Given the description of an element on the screen output the (x, y) to click on. 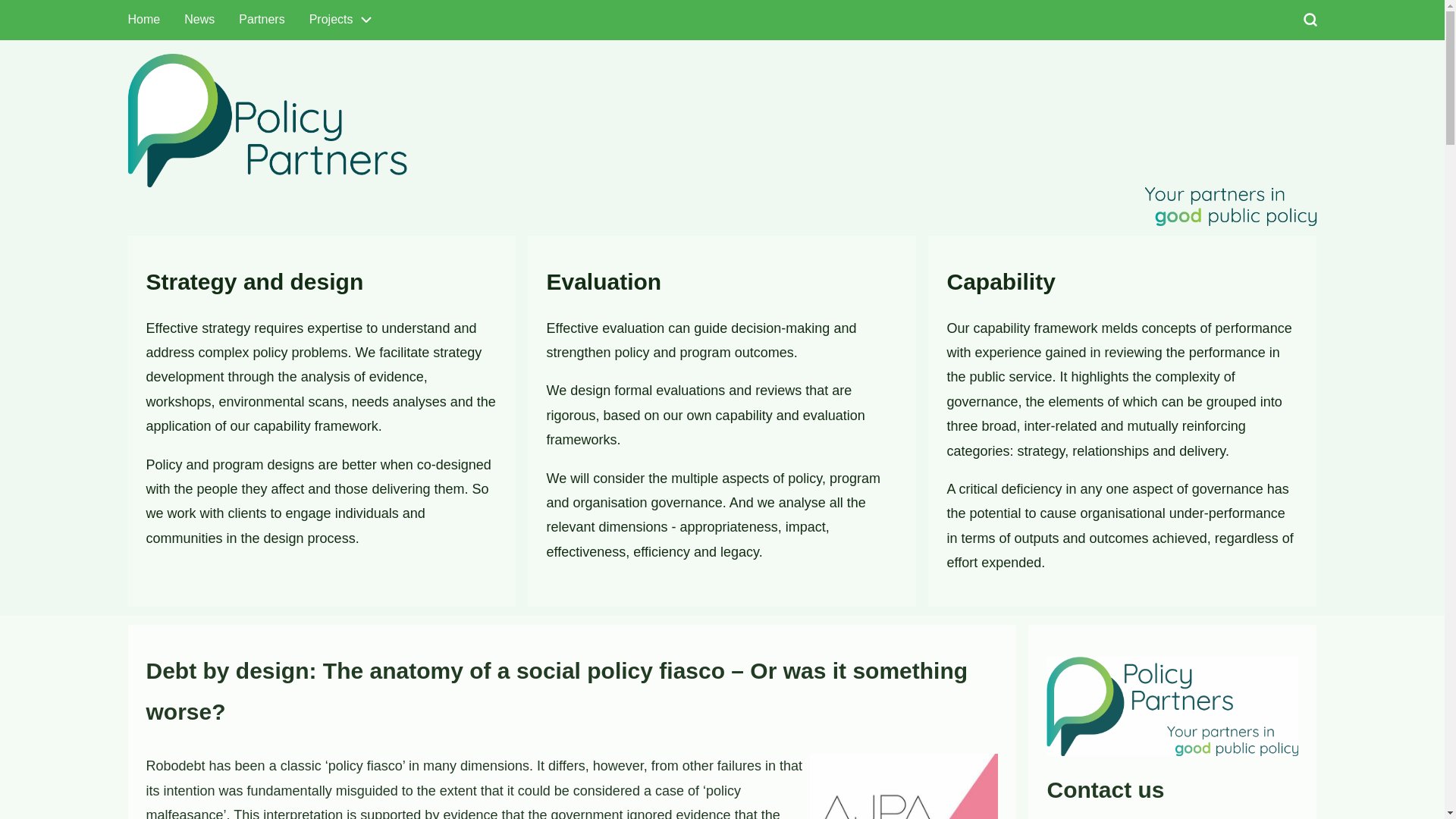
Partners Element type: text (261, 20)
Projects Element type: text (341, 20)
Skip to main content Element type: text (0, 0)
. Element type: text (1224, 46)
News Element type: text (199, 20)
Home Element type: text (143, 20)
